Given the description of an element on the screen output the (x, y) to click on. 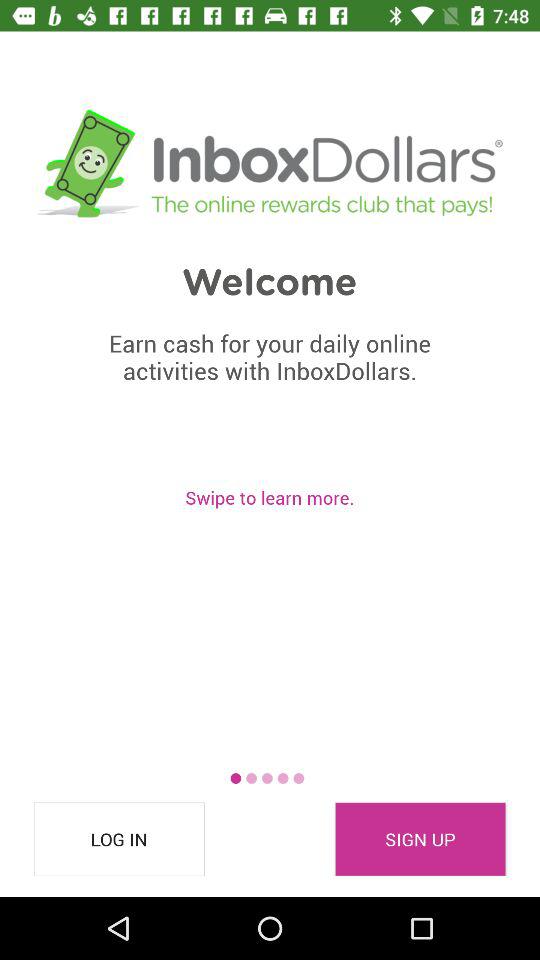
select sign up at the bottom right corner (420, 839)
